Given the description of an element on the screen output the (x, y) to click on. 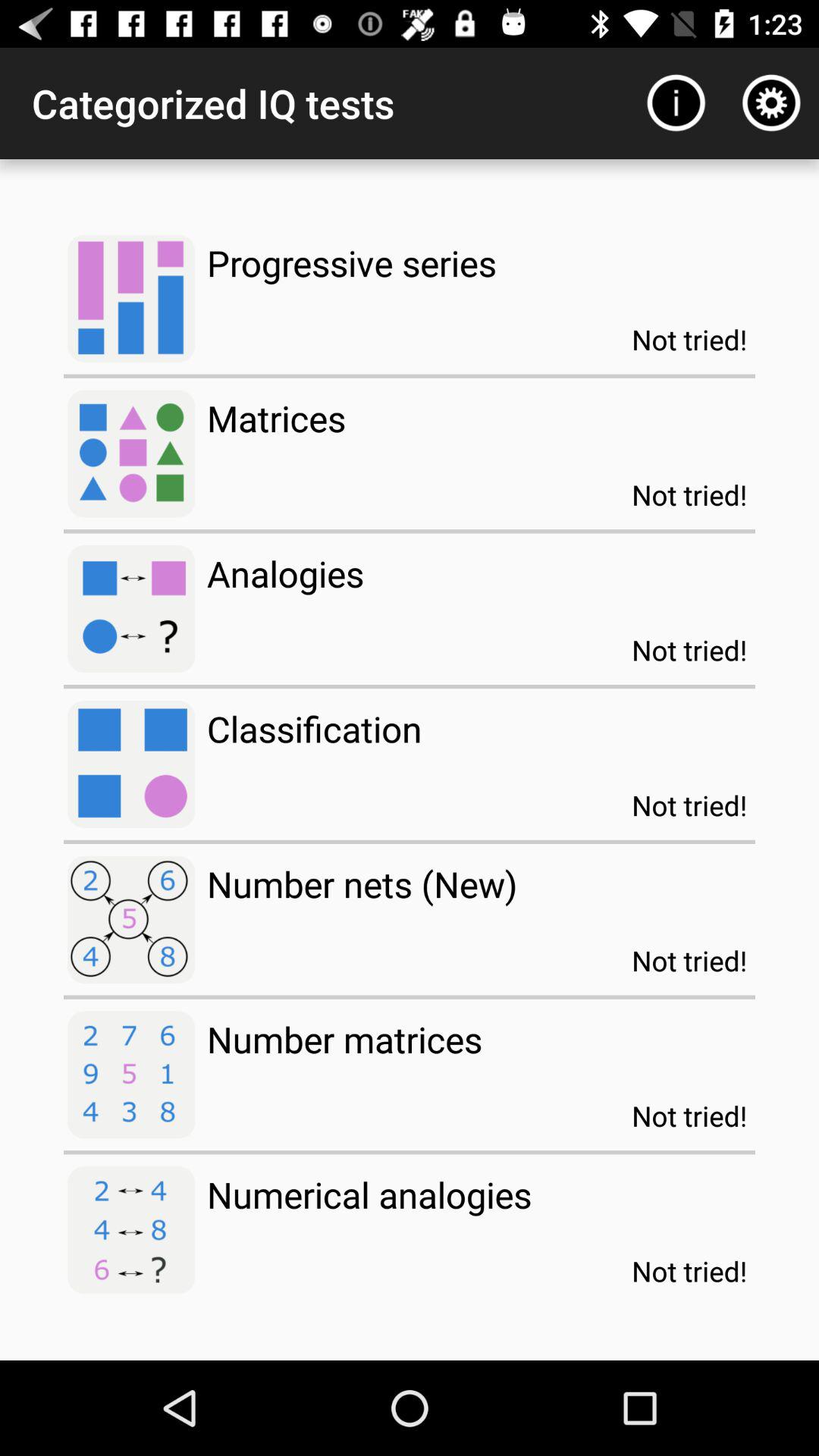
open item next to categorized iq tests (675, 103)
